Given the description of an element on the screen output the (x, y) to click on. 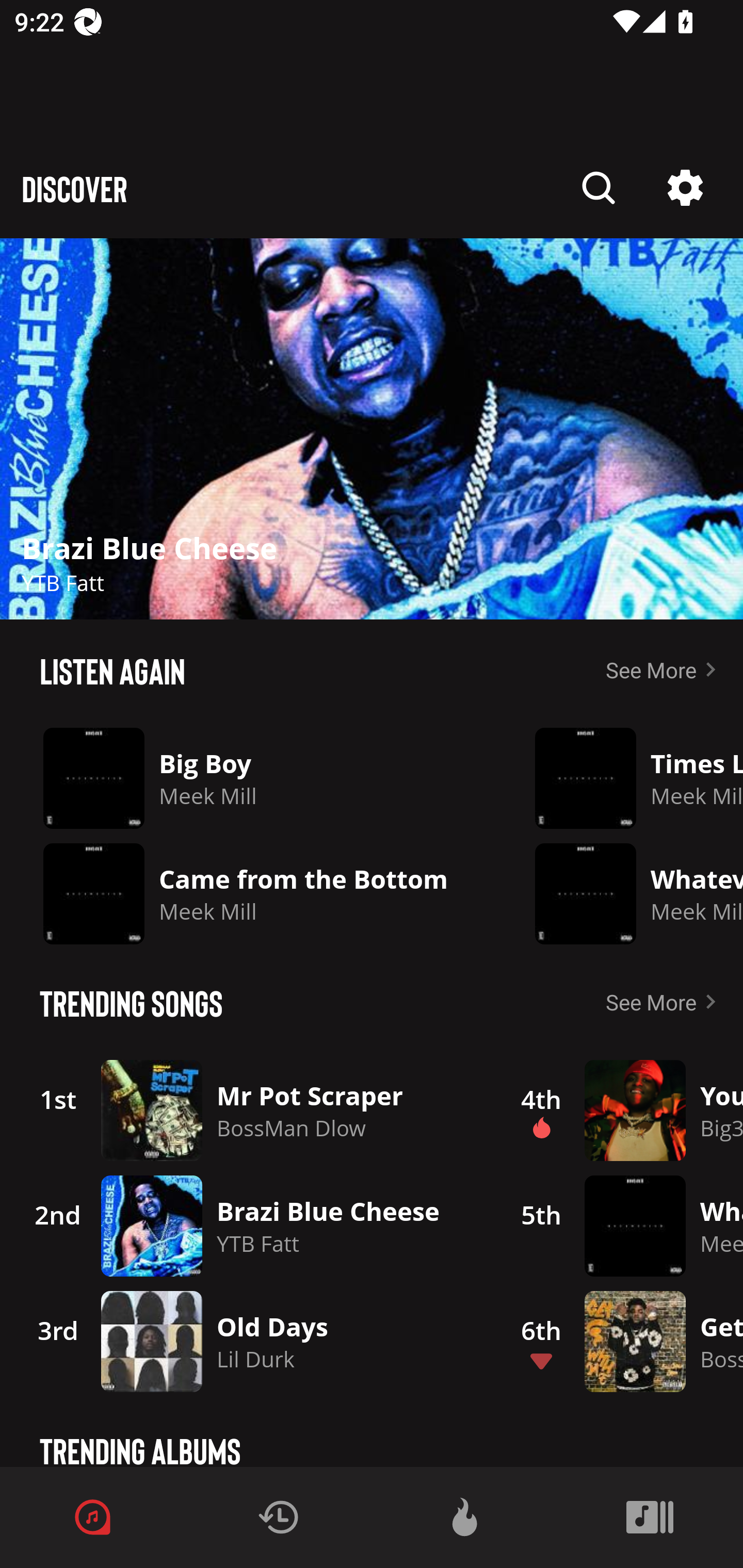
Description (598, 188)
Description (684, 188)
Description (371, 428)
See More (664, 669)
Description Big Boy Meek Mill (252, 778)
Description Times Like This Meek Mill (624, 778)
Description Came from the Bottom Meek Mill (252, 893)
See More (664, 1001)
1st Description Mr Pot Scraper BossMan Dlow (248, 1110)
4th Description Description You Thought Big30 (620, 1110)
2nd Description Brazi Blue Cheese YTB Fatt (248, 1226)
3rd Description Old Days Lil Durk (248, 1341)
